Given the description of an element on the screen output the (x, y) to click on. 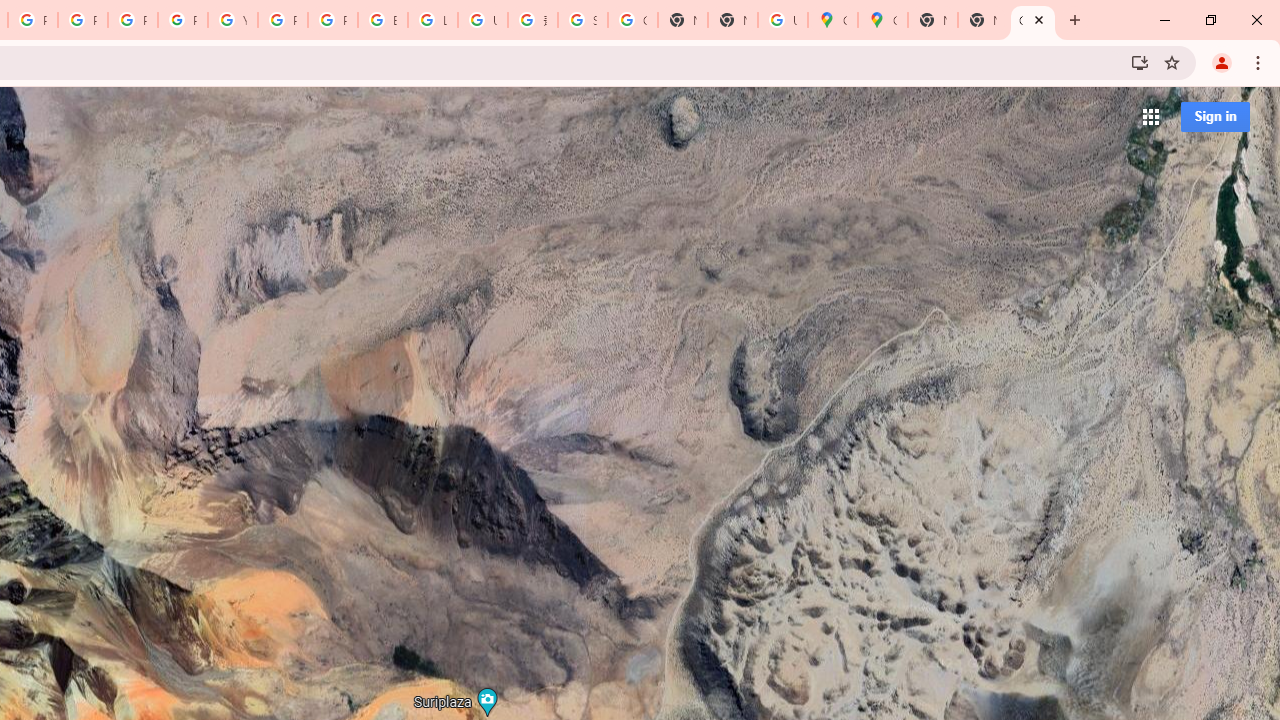
Install Google Maps (1139, 62)
Browse Chrome as a guest - Computer - Google Chrome Help (383, 20)
New Tab (932, 20)
Google Maps (1032, 20)
New Tab (732, 20)
Sign in - Google Accounts (582, 20)
Google Maps (832, 20)
